Given the description of an element on the screen output the (x, y) to click on. 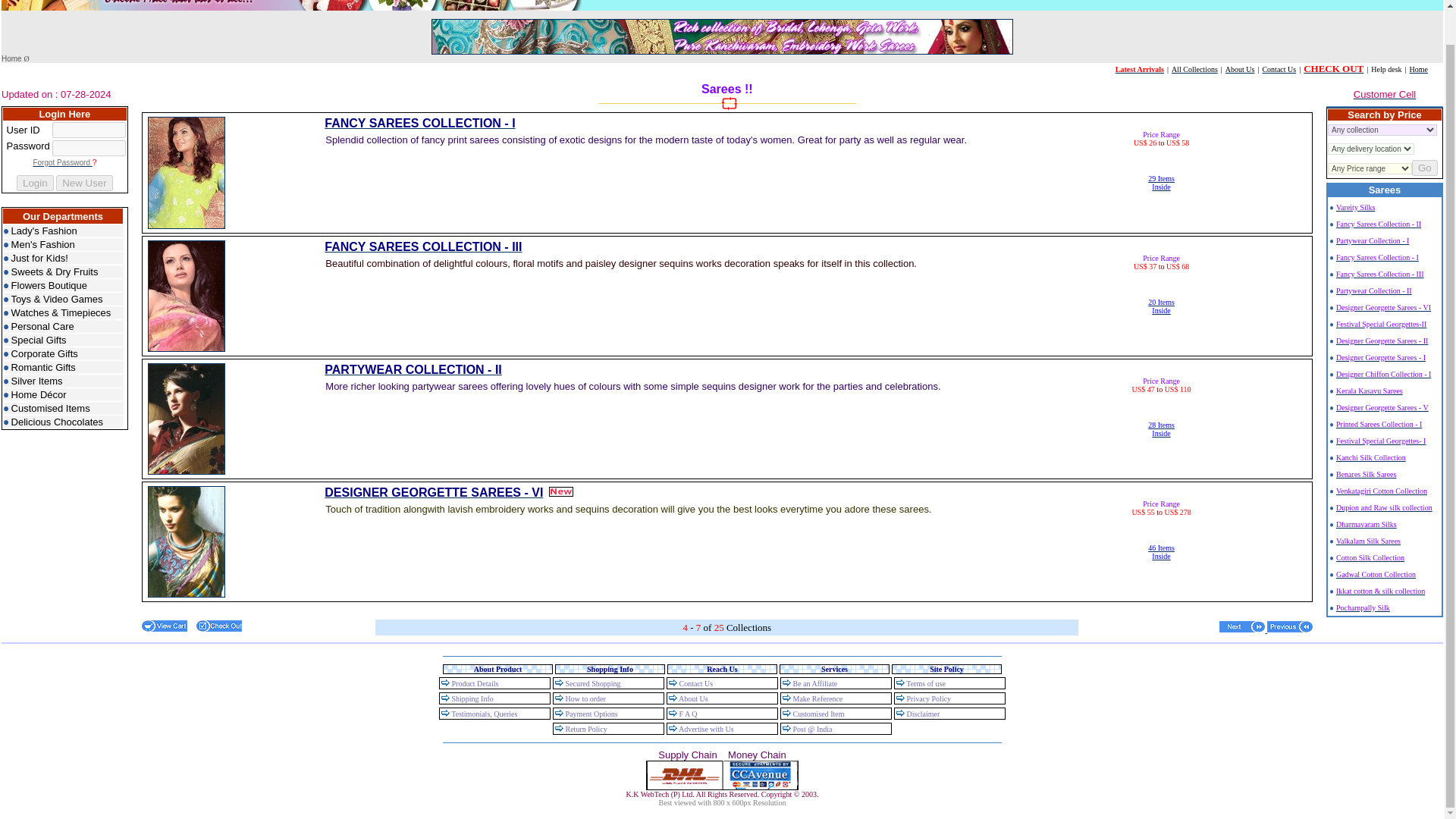
Lady's Fashion (62, 230)
All Collections (1194, 67)
Login (34, 182)
Flowers Boutique (62, 285)
Special Gifts (62, 339)
Just for Kids! (62, 257)
Home (1418, 67)
Forgot Password (61, 160)
Home (12, 56)
New User (1161, 180)
Delicious Chocolates (84, 182)
About Us (62, 421)
DESIGNER GEORGETTE SAREES - VI (1240, 67)
